Given the description of an element on the screen output the (x, y) to click on. 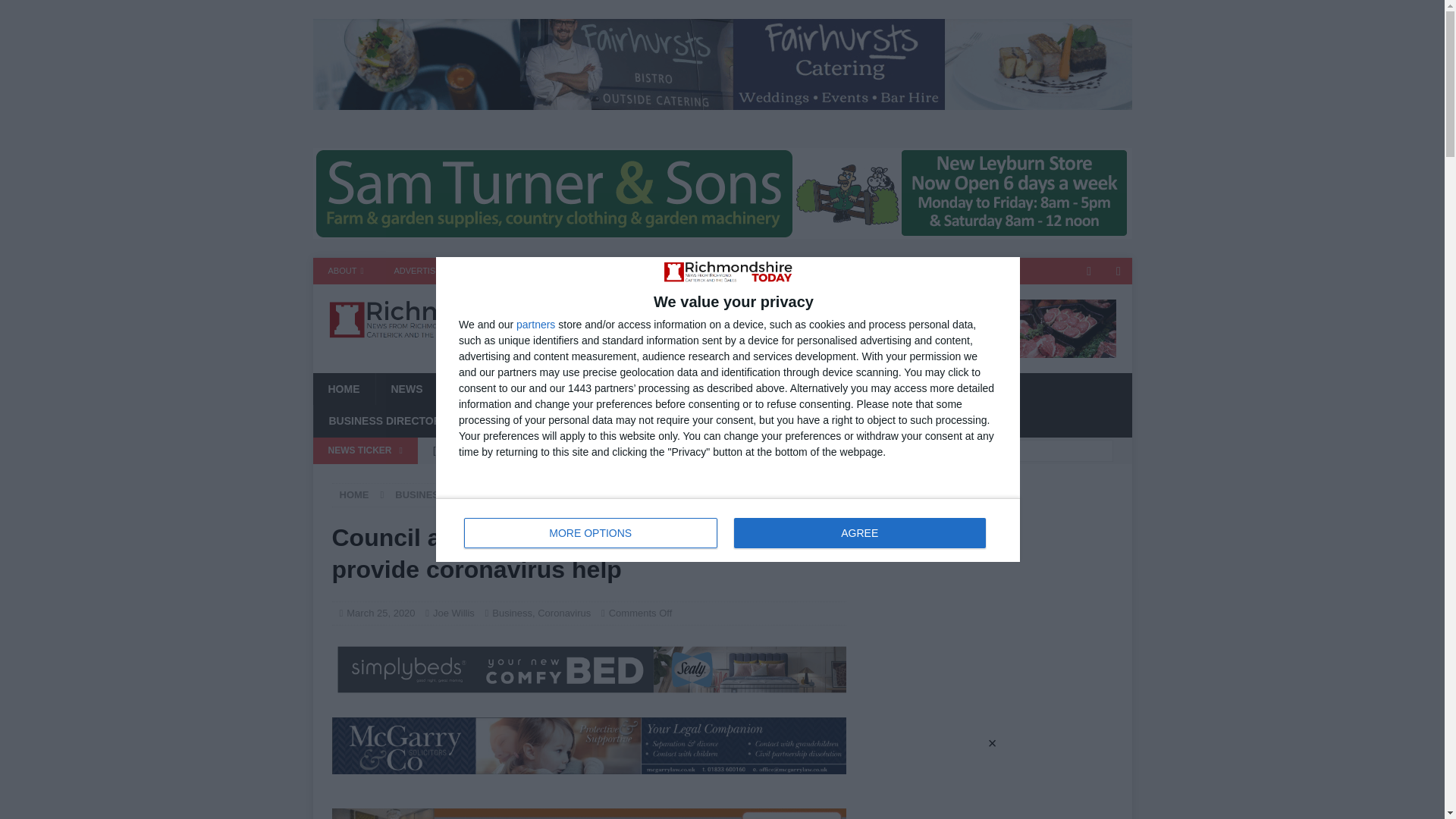
Free family fun as Rusticus returns to Bramble Woods (634, 450)
ADVERTISE (416, 270)
MAGAZINE (566, 270)
MORE OPTIONS (590, 532)
AGREE (859, 532)
ABOUT (345, 270)
CONTACT (491, 270)
Fund tweaked to support young people in Yorkshire Dales (634, 475)
partners (535, 324)
